Given the description of an element on the screen output the (x, y) to click on. 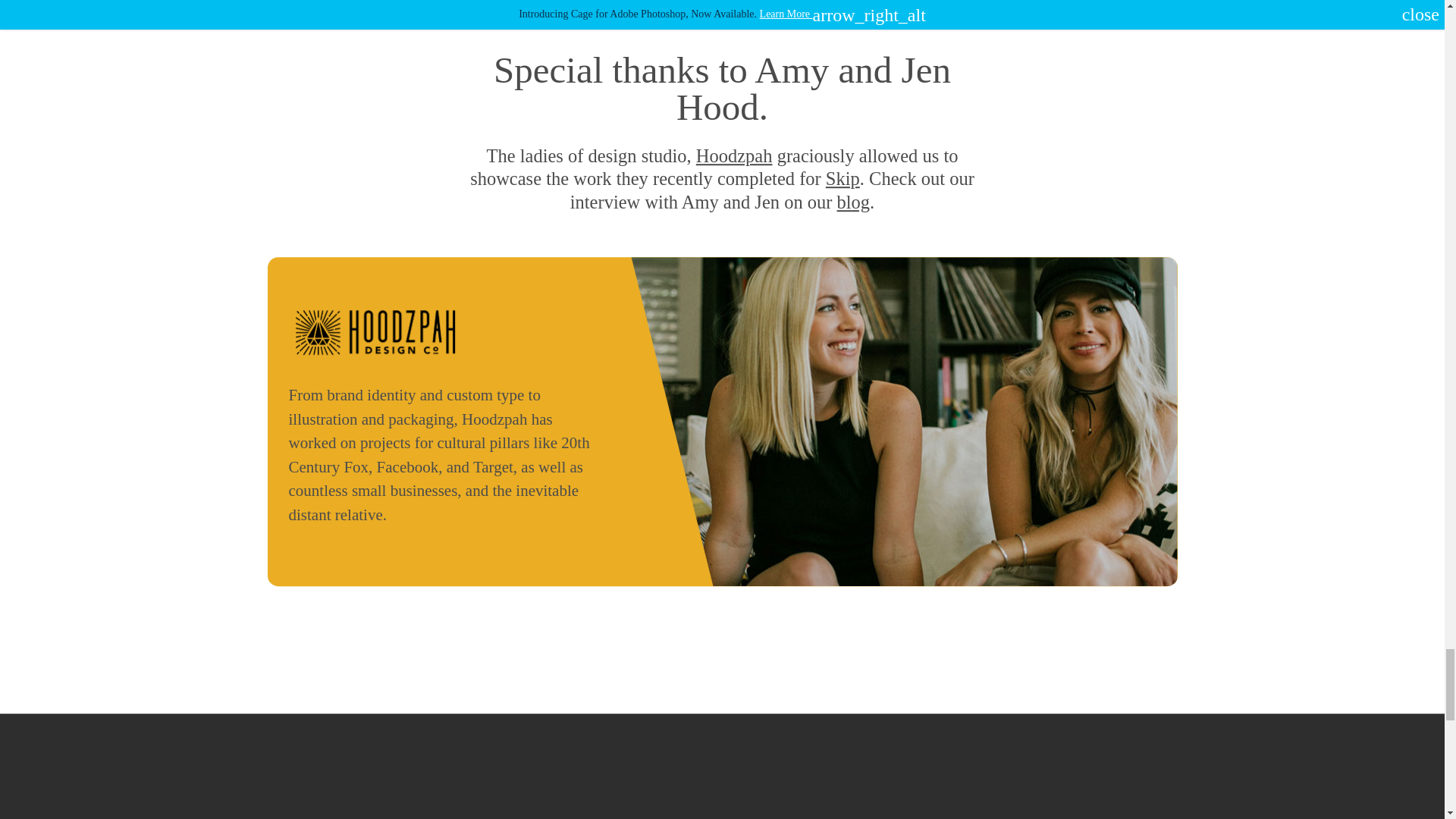
Skip (842, 178)
blog (853, 201)
Hoodzpah (734, 155)
